Given the description of an element on the screen output the (x, y) to click on. 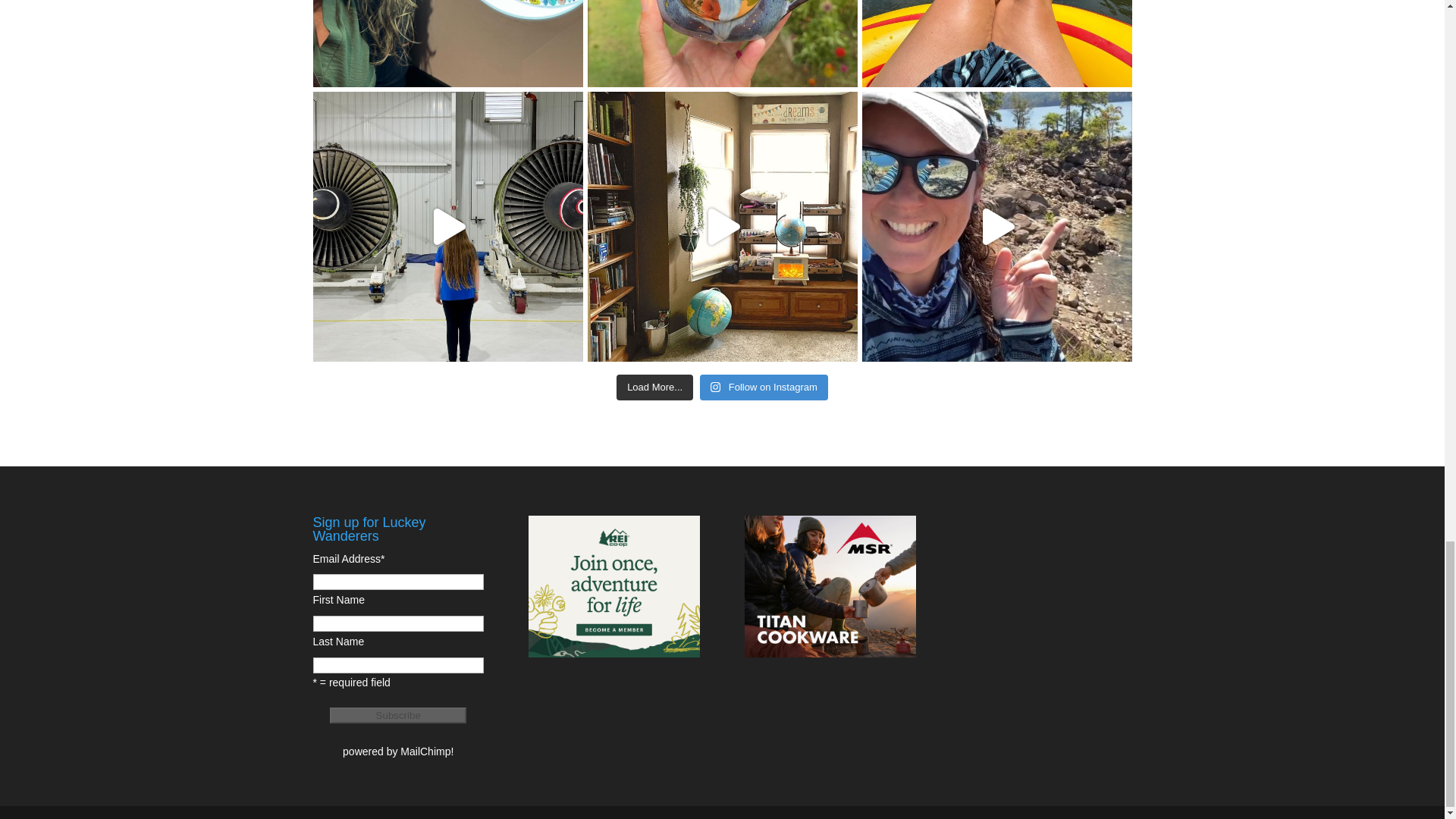
Subscribe (397, 715)
MailChimp (424, 751)
Load More... (654, 387)
Follow on Instagram (764, 387)
Subscribe (397, 715)
